Given the description of an element on the screen output the (x, y) to click on. 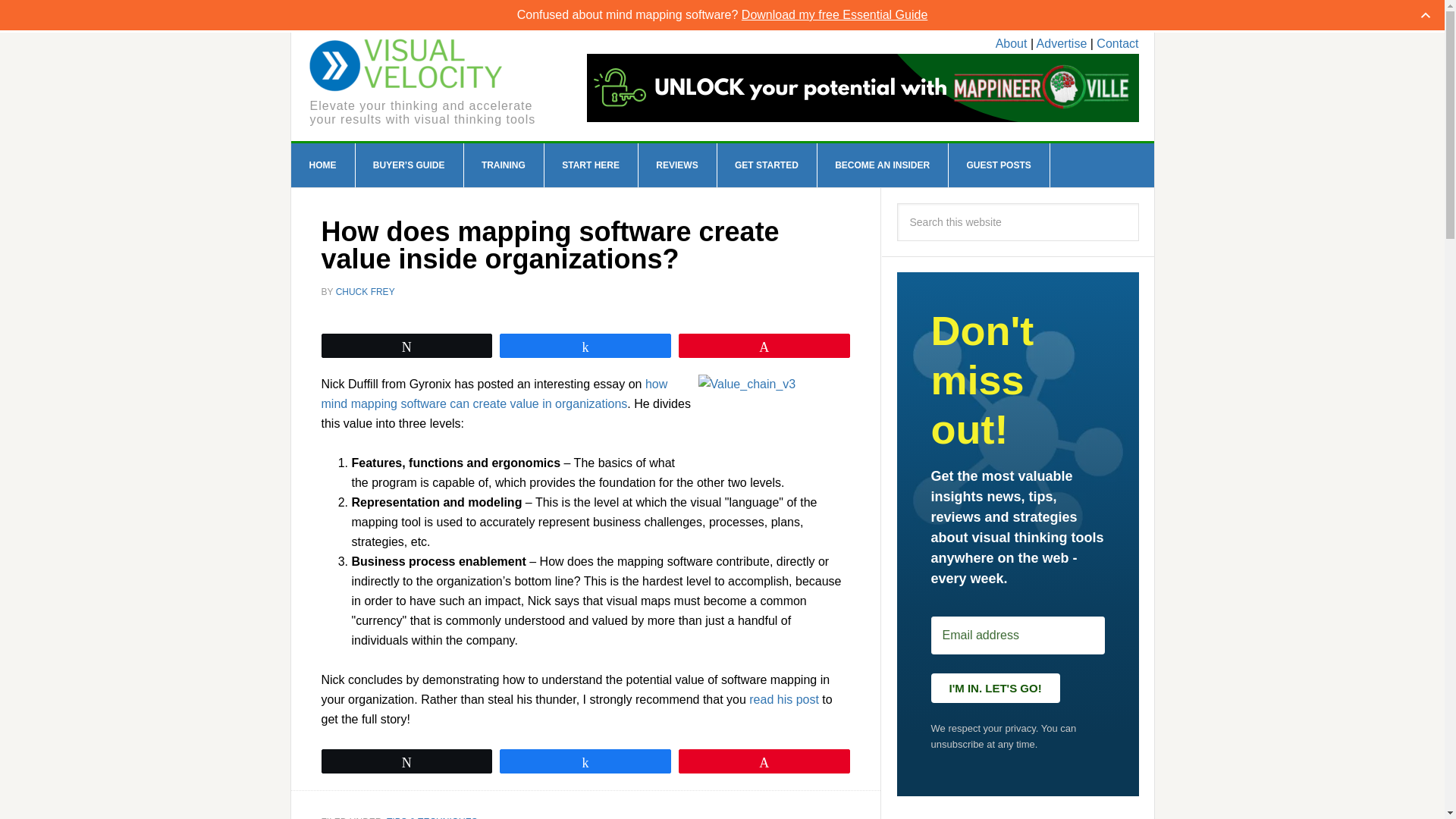
how mind mapping software can create value in organizations (494, 393)
BECOME AN INSIDER (882, 165)
START HERE (591, 165)
TRAINING (503, 165)
CHUCK FREY (365, 291)
Contact (1117, 42)
Advertise (1061, 42)
REVIEWS (676, 165)
read his post (783, 698)
About (1011, 42)
GUEST POSTS (998, 165)
GET STARTED (766, 165)
MIND MAPPING SOFTWARE BLOG (405, 65)
